Given the description of an element on the screen output the (x, y) to click on. 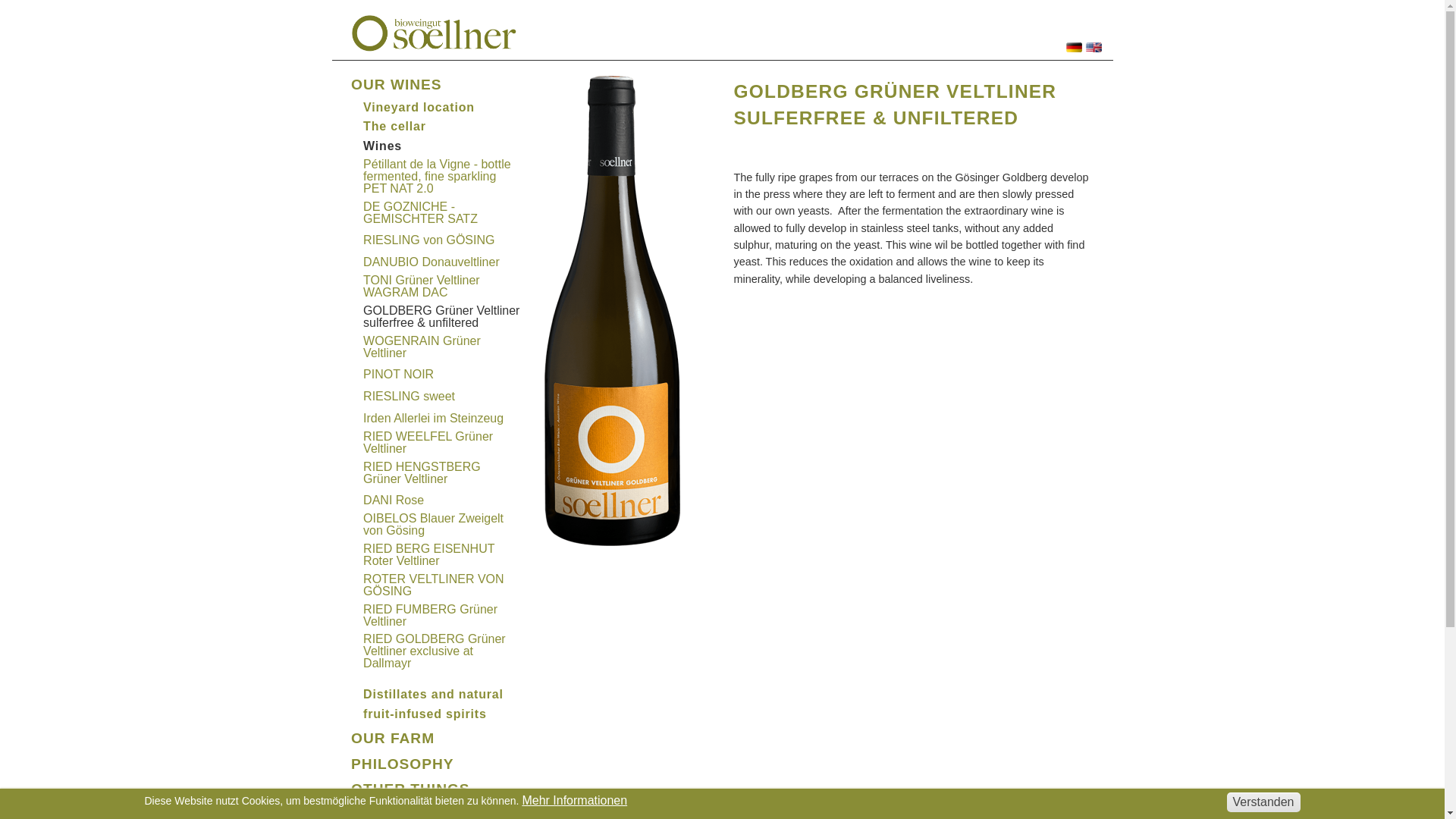
weingut-soellner.at Home (433, 32)
Deutsch (1073, 47)
weingut-soellner.at Home (433, 33)
English (1094, 47)
